Given the description of an element on the screen output the (x, y) to click on. 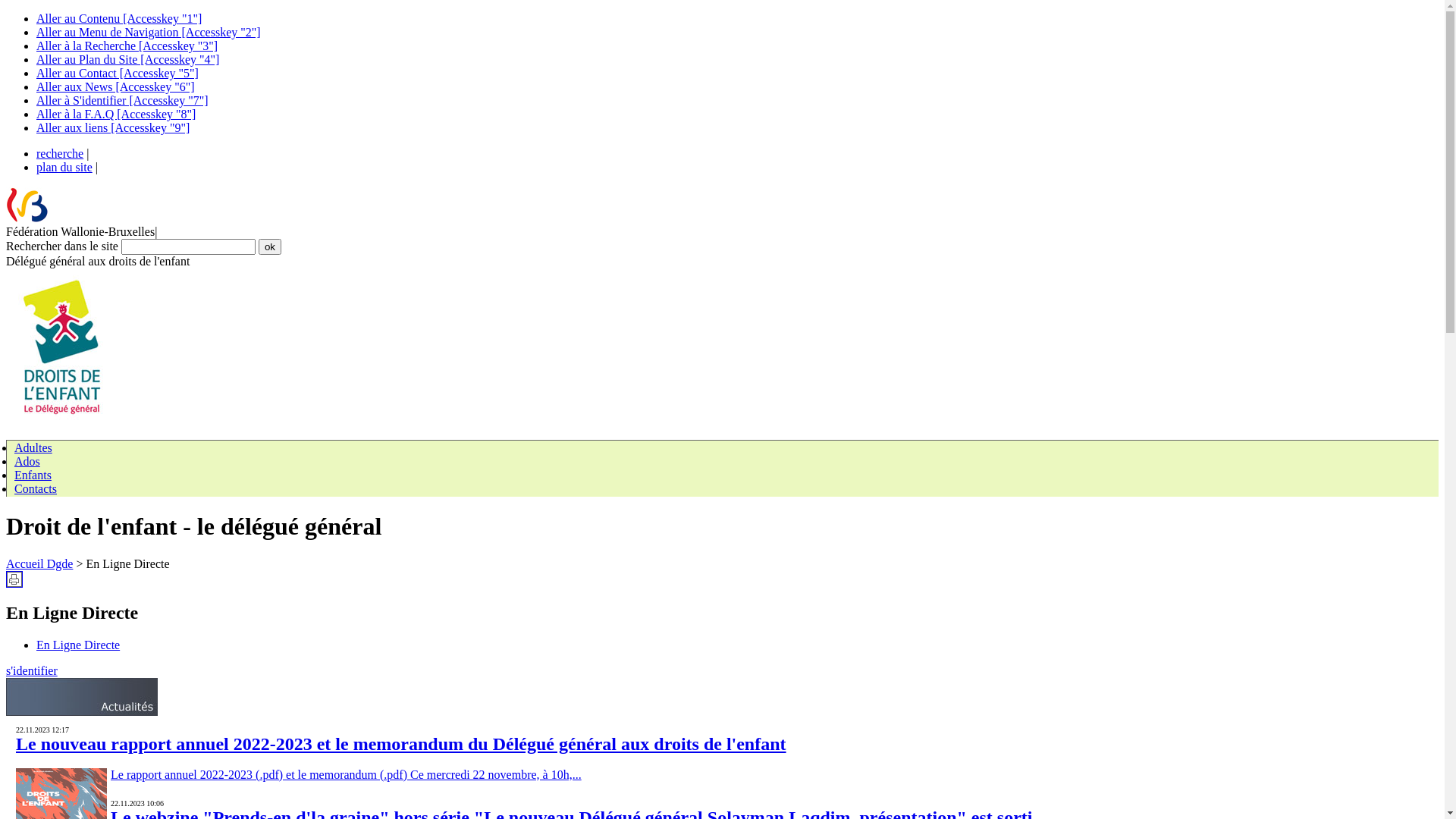
En Ligne Directe Element type: text (77, 644)
Imprimer la page Element type: hover (14, 579)
Adultes Element type: text (33, 447)
Aller au Plan du Site [Accesskey "4"] Element type: text (127, 59)
recherche Element type: text (59, 153)
Aller au Menu de Navigation [Accesskey "2"] Element type: text (148, 31)
Imprimer la page Element type: hover (14, 583)
Image d'illustration Element type: hover (62, 347)
s'identifier Element type: text (31, 670)
Aller aux liens [Accesskey "9"] Element type: text (112, 127)
Aller aux News [Accesskey "6"] Element type: text (115, 86)
Ados Element type: text (27, 461)
Accueil Dgde Element type: text (39, 563)
ok Element type: text (269, 246)
Enfants Element type: text (32, 474)
Aller au Contact [Accesskey "5"] Element type: text (117, 72)
plan du site Element type: text (64, 166)
rechercher Element type: hover (269, 246)
Contacts Element type: text (35, 488)
Aller au Contenu [Accesskey "1"] Element type: text (118, 18)
